Given the description of an element on the screen output the (x, y) to click on. 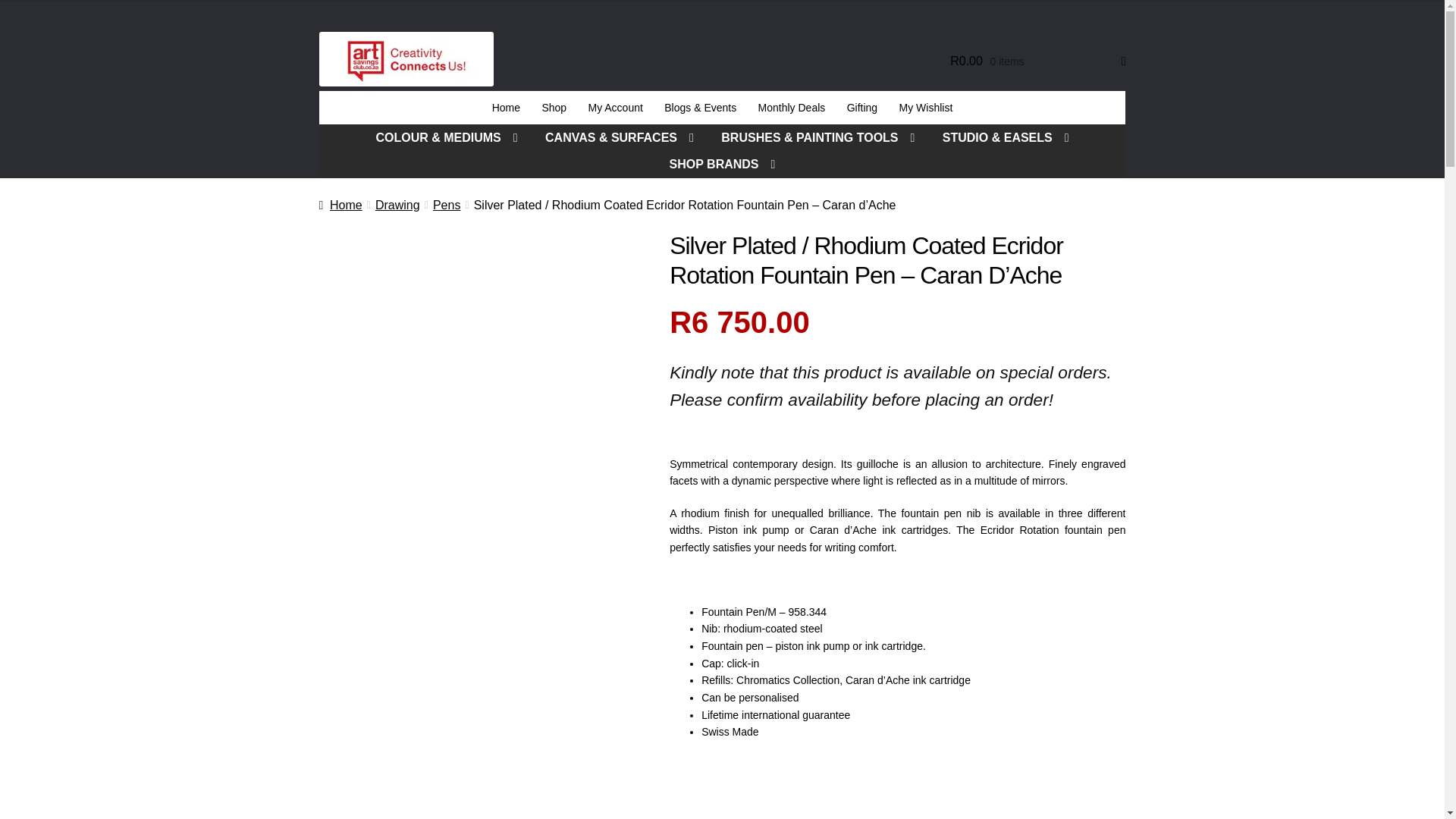
Home (505, 107)
My Account (615, 107)
Shop (553, 107)
View your shopping basket (1037, 60)
My Wishlist (924, 107)
R0.00 0 items (1037, 60)
Gifting (861, 107)
Home Page (505, 107)
Monthly Deals (791, 107)
